Given the description of an element on the screen output the (x, y) to click on. 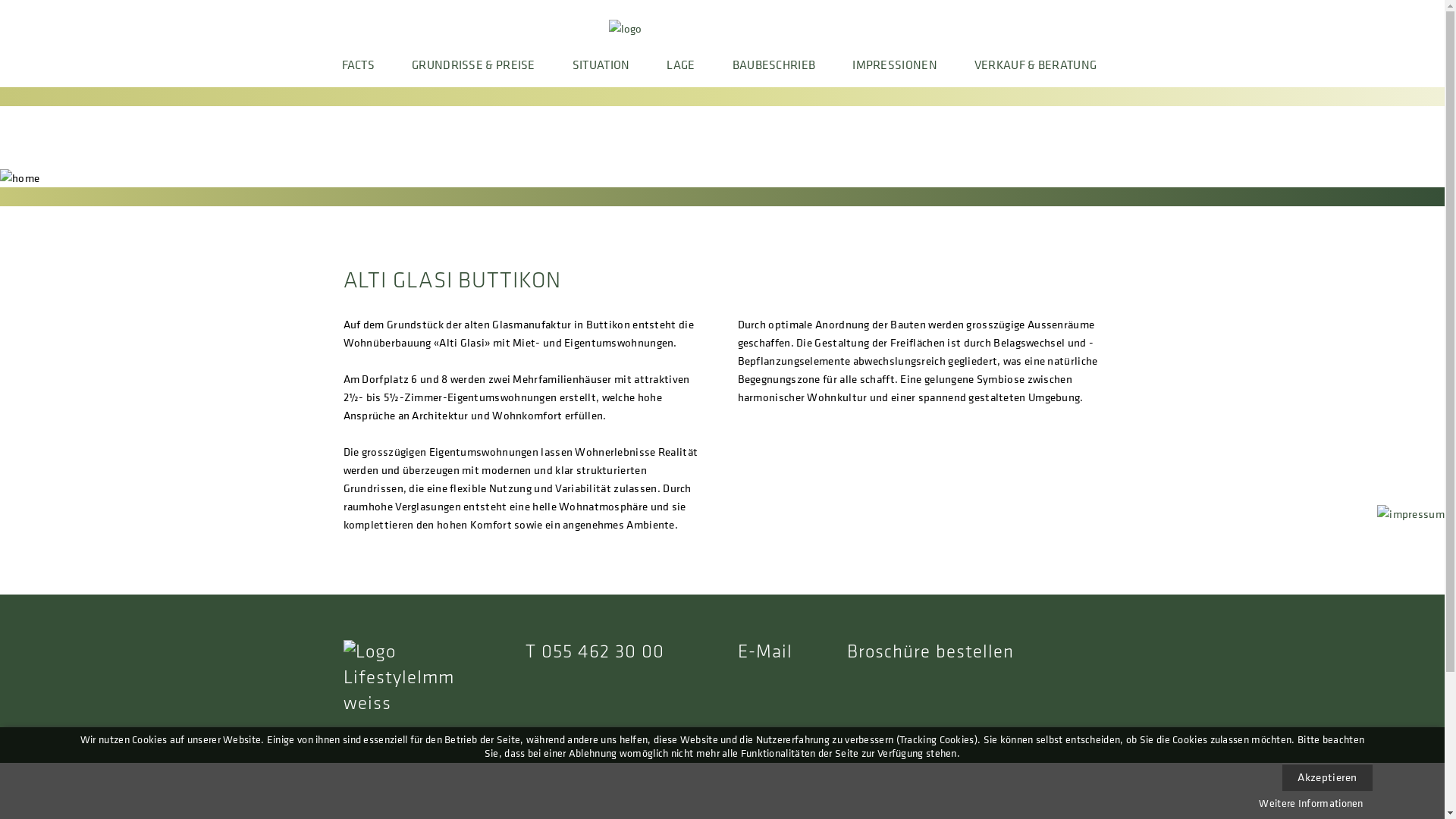
GRUNDRISSE & PREISE Element type: text (472, 71)
IMPRESSIONEN Element type: text (895, 71)
Weitere Informationen Element type: text (1310, 802)
LAGE Element type: text (680, 71)
BAUBESCHRIEB Element type: text (773, 71)
T 055 462 30 00 Element type: text (593, 652)
E-Mail Element type: text (764, 652)
VERKAUF & BERATUNG Element type: text (1025, 71)
SITUATION Element type: text (600, 71)
FACTS Element type: text (366, 71)
Akzeptieren Element type: text (1326, 776)
Lifestyle Immobilien AG Element type: hover (396, 677)
